Given the description of an element on the screen output the (x, y) to click on. 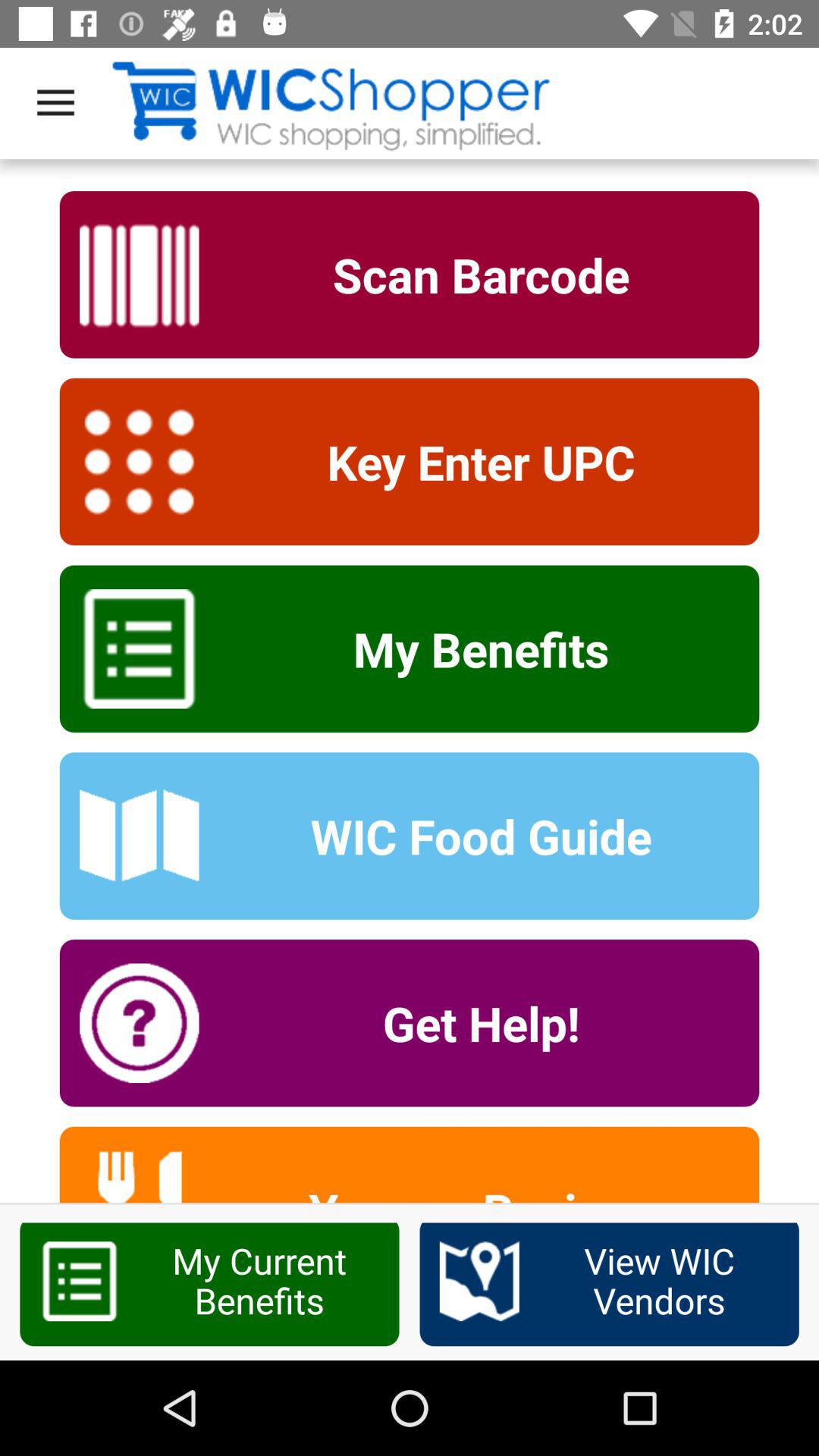
choose scan barcode icon (471, 274)
